Given the description of an element on the screen output the (x, y) to click on. 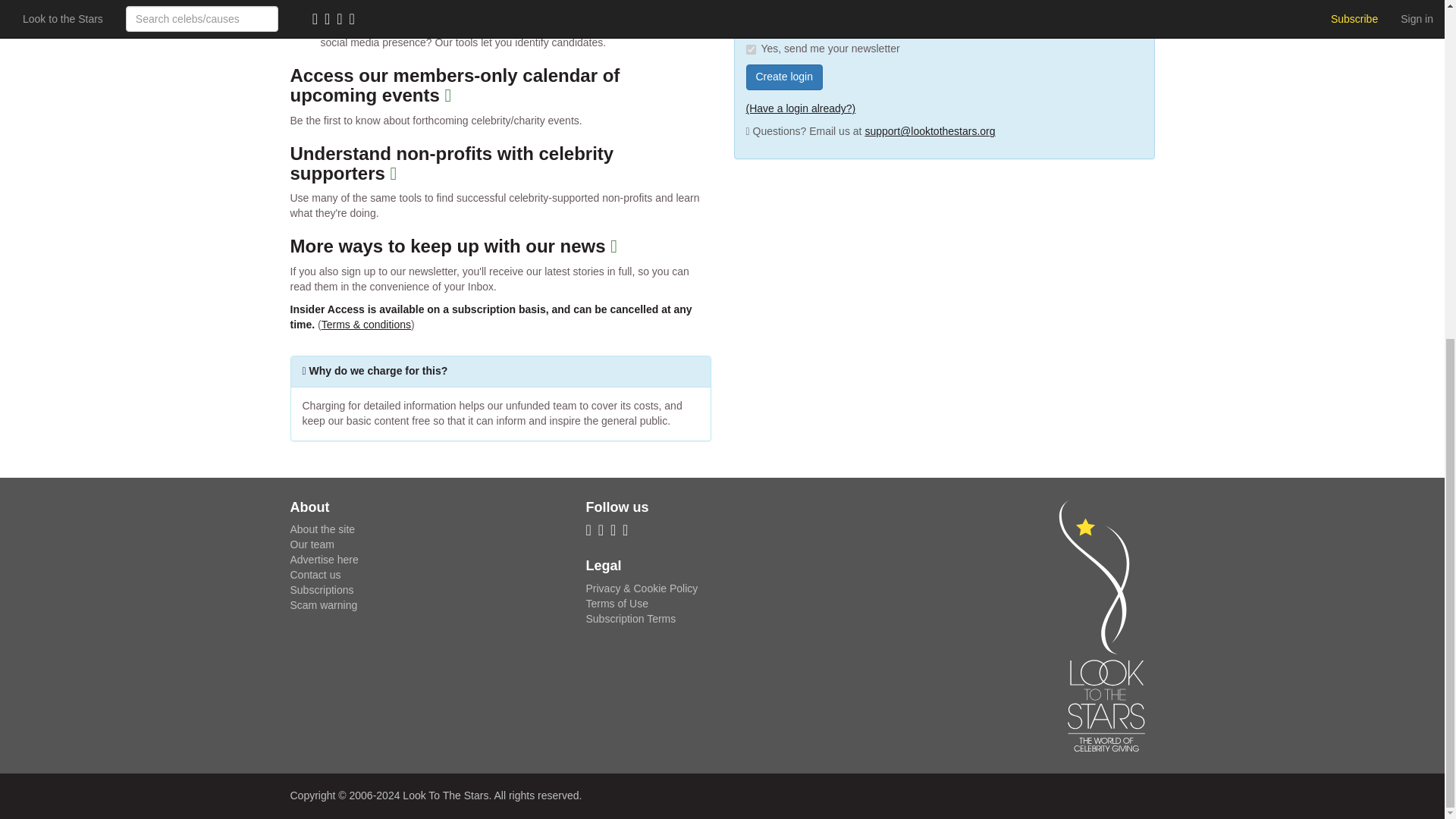
Advertise here (323, 559)
Contact us (314, 574)
About the site (322, 529)
Create login (784, 77)
Subscriptions (321, 589)
RSS feed (590, 531)
1 (750, 49)
Twitter (616, 531)
Create login (784, 77)
Our team (311, 544)
Scam warning (322, 604)
Mailing list (604, 531)
